Given the description of an element on the screen output the (x, y) to click on. 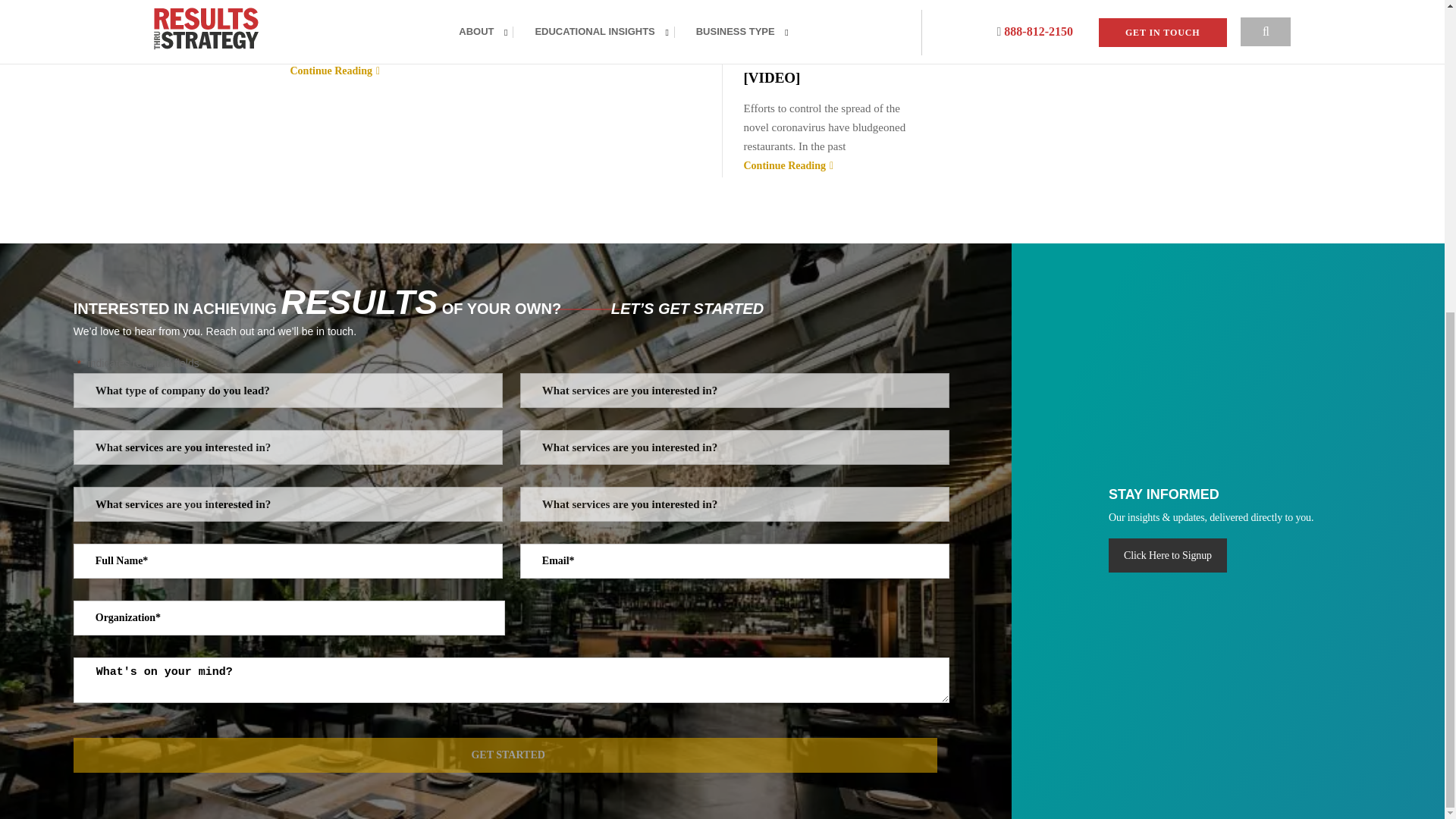
Click Here to Signup (1167, 554)
Restaurants (467, 3)
Restaurants (825, 16)
GET STARTED (505, 755)
Continue Reading (829, 165)
Real Estate (768, 16)
Continue Reading (494, 70)
Lease Negotiation (848, 3)
COVID-19 (780, 3)
Real Estate (410, 3)
